Given the description of an element on the screen output the (x, y) to click on. 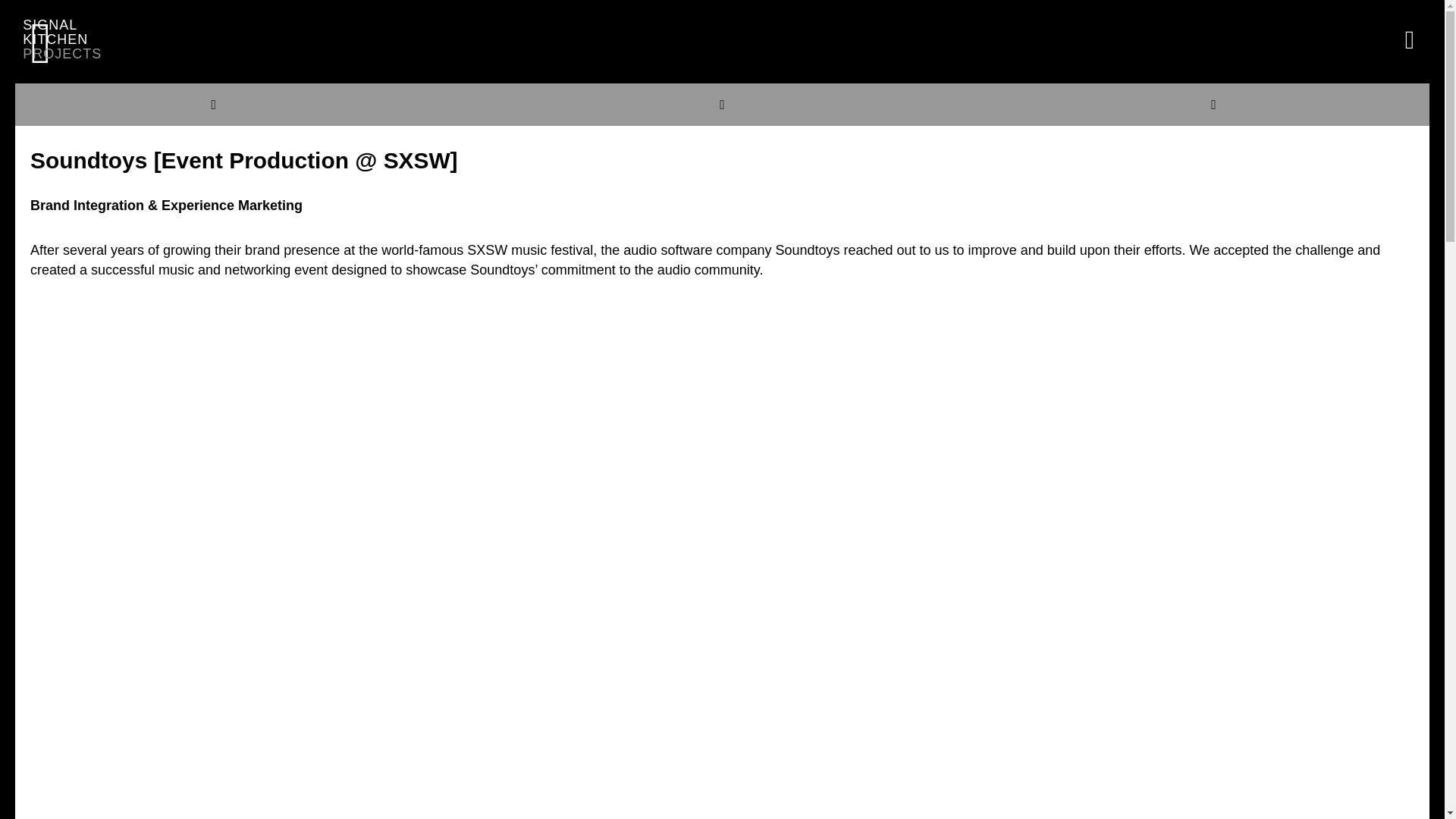
PREVIOUS (65, 45)
NEXT (250, 103)
All (1193, 103)
